Given the description of an element on the screen output the (x, y) to click on. 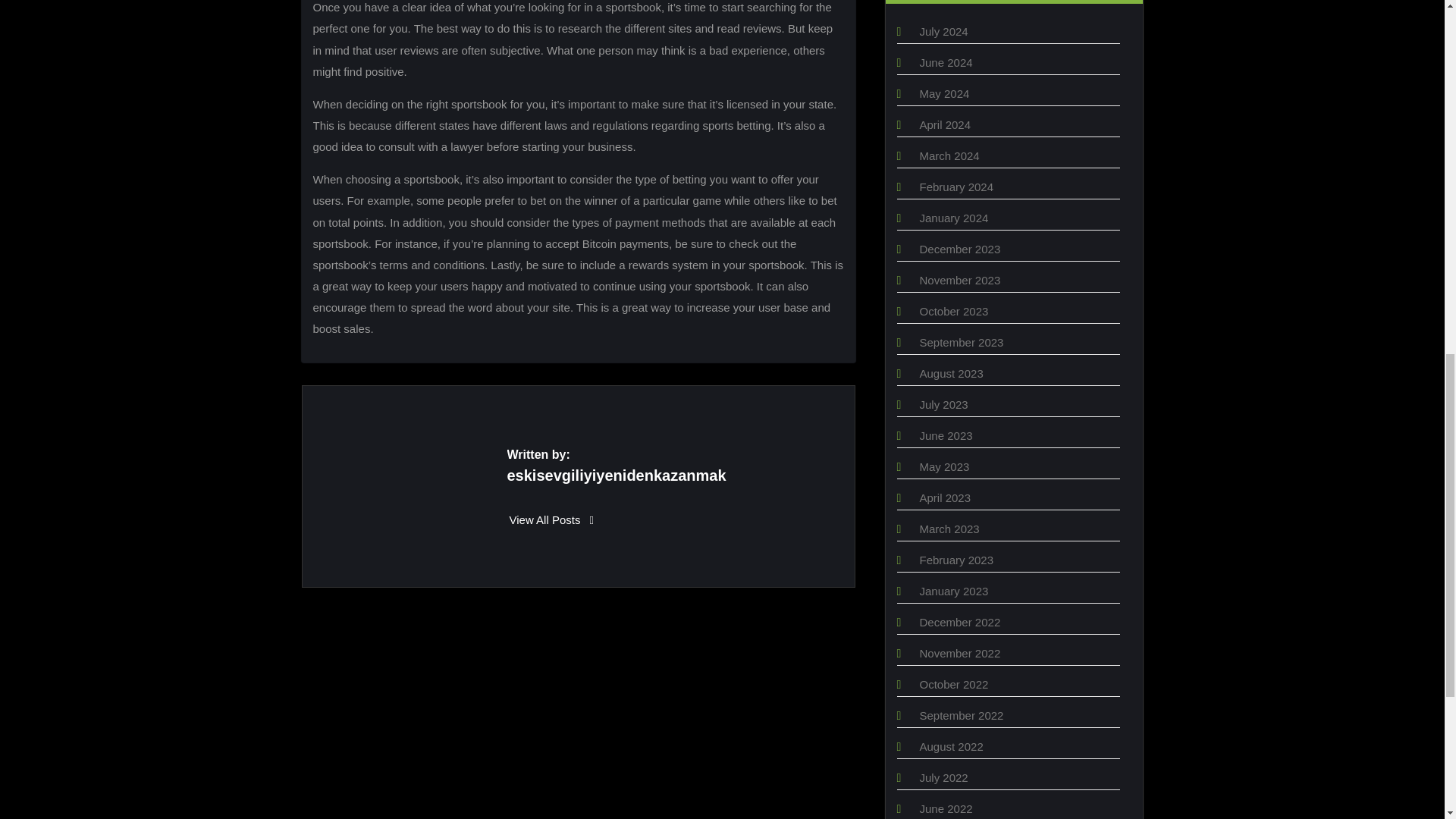
View All Posts (551, 519)
December 2022 (959, 621)
November 2022 (959, 653)
January 2024 (953, 217)
December 2023 (959, 248)
March 2023 (948, 528)
July 2022 (943, 777)
September 2023 (960, 341)
August 2022 (950, 746)
April 2024 (944, 124)
